Given the description of an element on the screen output the (x, y) to click on. 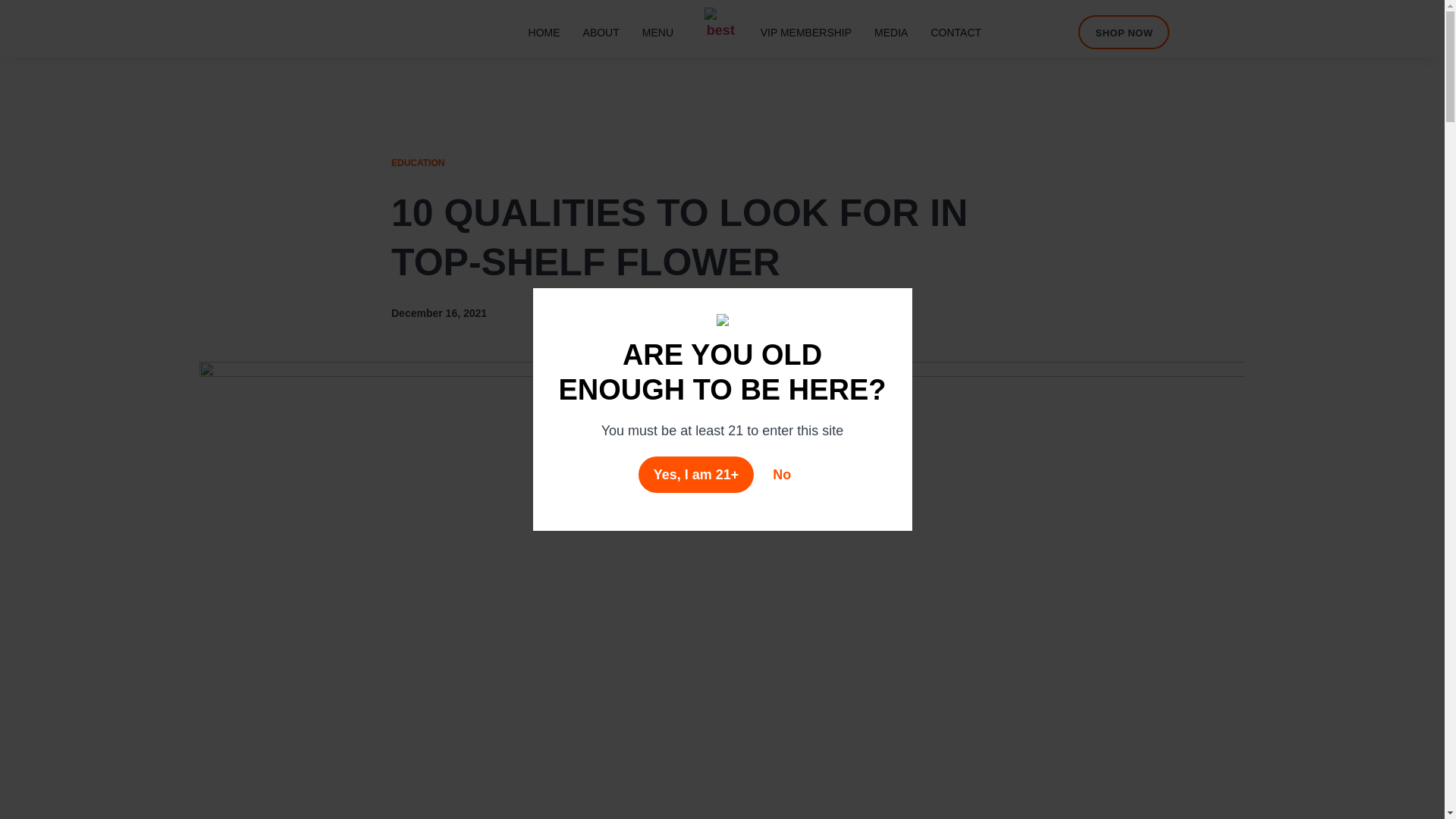
EDUCATION (417, 163)
No (781, 474)
VIP MEMBERSHIP (806, 32)
HOME (544, 32)
MEDIA (890, 32)
December 16, 2021 (438, 312)
SHOP NOW (1123, 32)
MENU (657, 32)
ABOUT (601, 32)
CONTACT (955, 32)
